Given the description of an element on the screen output the (x, y) to click on. 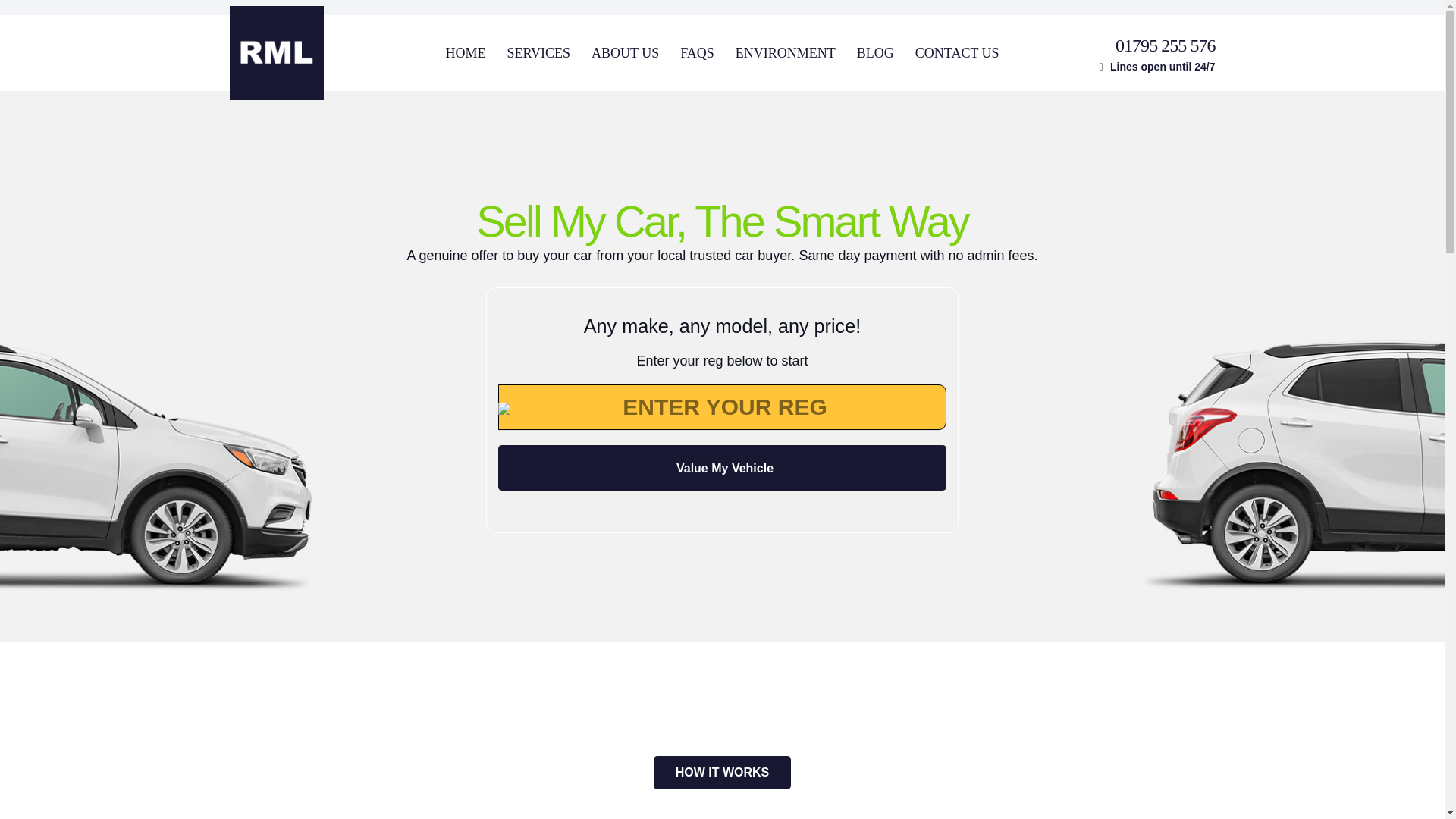
HOW IT WORKS (721, 772)
SERVICES (538, 53)
HOME (464, 53)
01795 255 576 (1165, 44)
ENVIRONMENT (785, 53)
ABOUT US (624, 53)
Value My Vehicle (721, 467)
CONTACT US (957, 53)
FAQS (697, 53)
BLOG (874, 53)
